Given the description of an element on the screen output the (x, y) to click on. 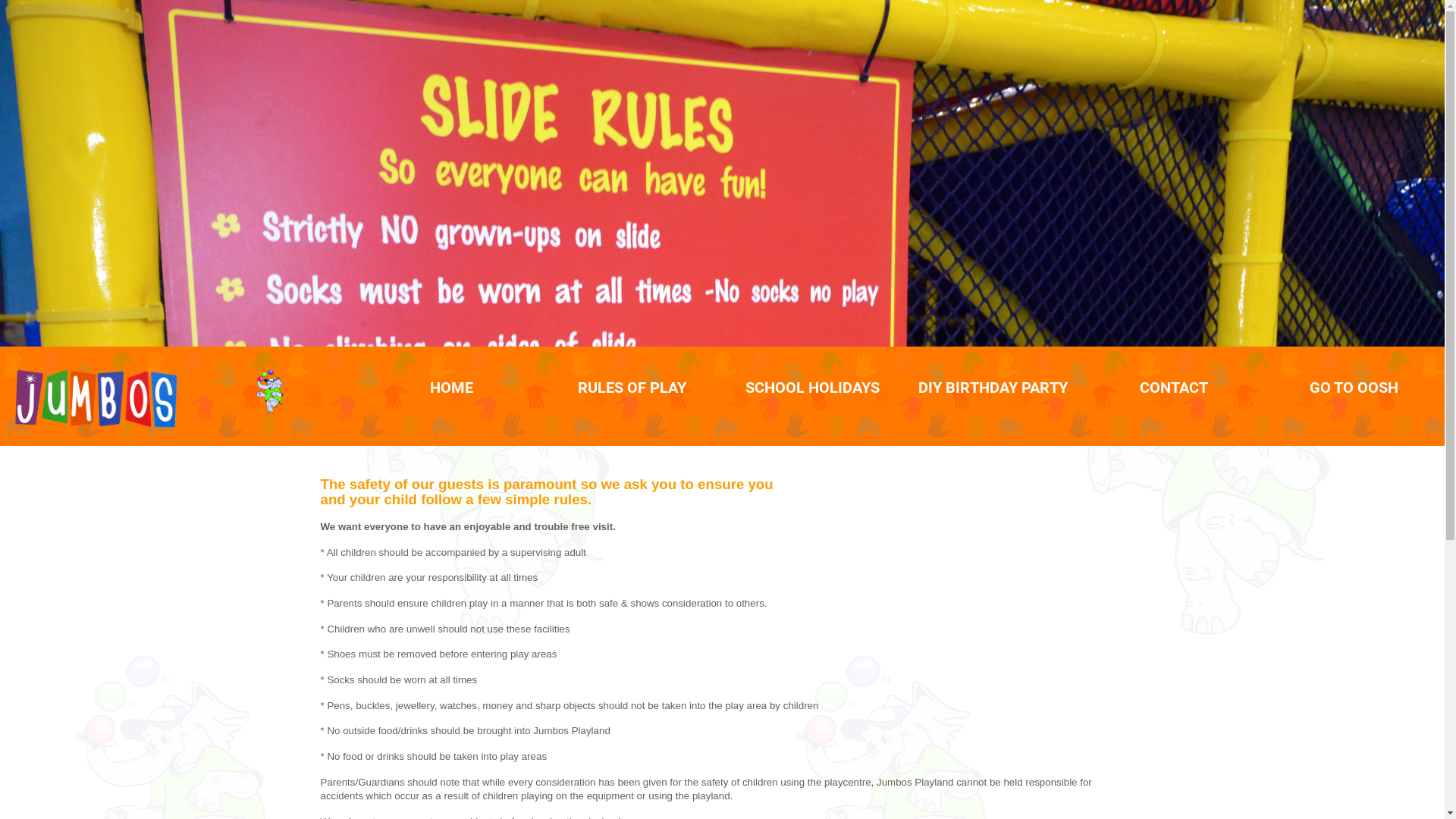
HOME Element type: text (451, 387)
DIY BIRTHDAY PARTY Element type: text (992, 387)
SCHOOL HOLIDAYS Element type: text (812, 387)
RULES OF PLAY Element type: text (631, 387)
GO TO OOSH Element type: text (1353, 387)
CONTACT Element type: text (1173, 387)
